Given the description of an element on the screen output the (x, y) to click on. 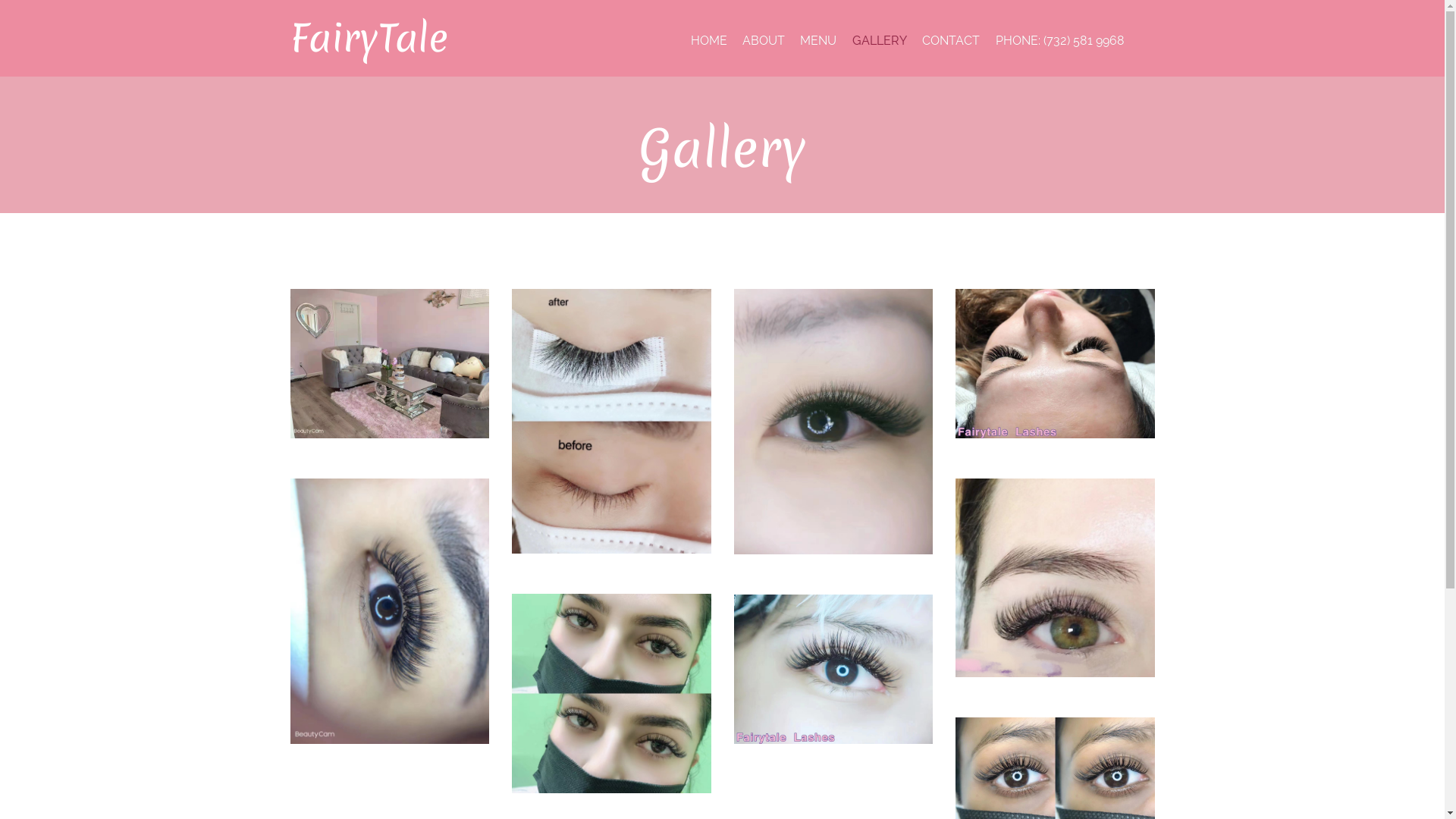
  Element type: text (1054, 371)
FairyTale Element type: text (368, 38)
PHONE: (732) 581 9968 Element type: text (1059, 40)
  Element type: text (1054, 586)
  Element type: text (611, 701)
  Element type: text (389, 371)
  Element type: text (389, 619)
MENU Element type: text (818, 40)
CONTACT Element type: text (950, 40)
  Element type: text (833, 429)
  Element type: text (611, 429)
GALLERY Element type: text (879, 40)
  Element type: text (833, 677)
ABOUT Element type: text (763, 40)
HOME Element type: text (708, 40)
